Given the description of an element on the screen output the (x, y) to click on. 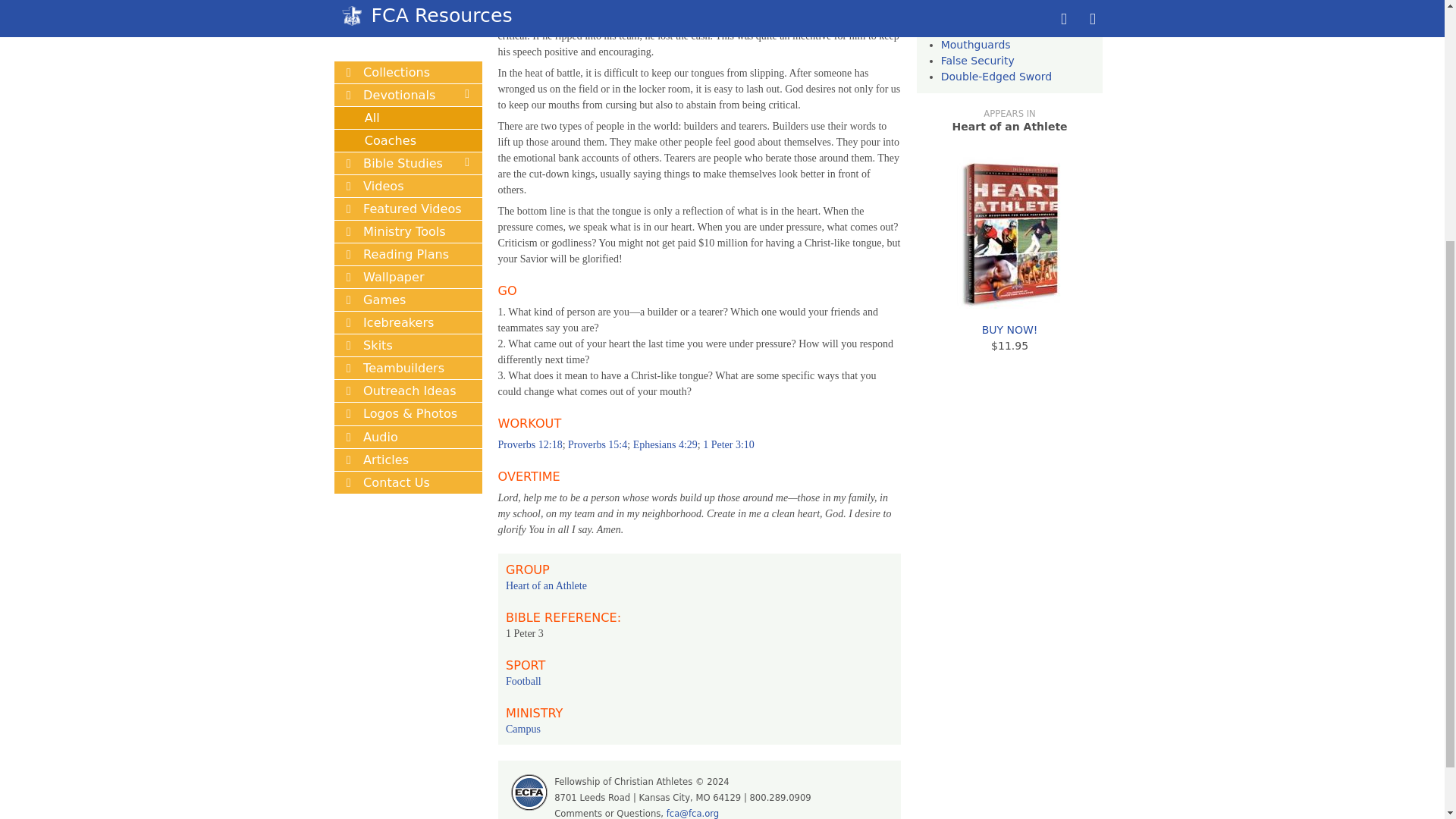
Proverbs 15:4 (597, 444)
Outreach Ideas (407, 33)
Proverbs 12:18 (529, 444)
Ephesians 4:29 (665, 444)
Contact Us (407, 124)
Audio (407, 78)
Teambuilders (407, 11)
Articles (407, 101)
1 Peter 3:10 (728, 444)
